Given the description of an element on the screen output the (x, y) to click on. 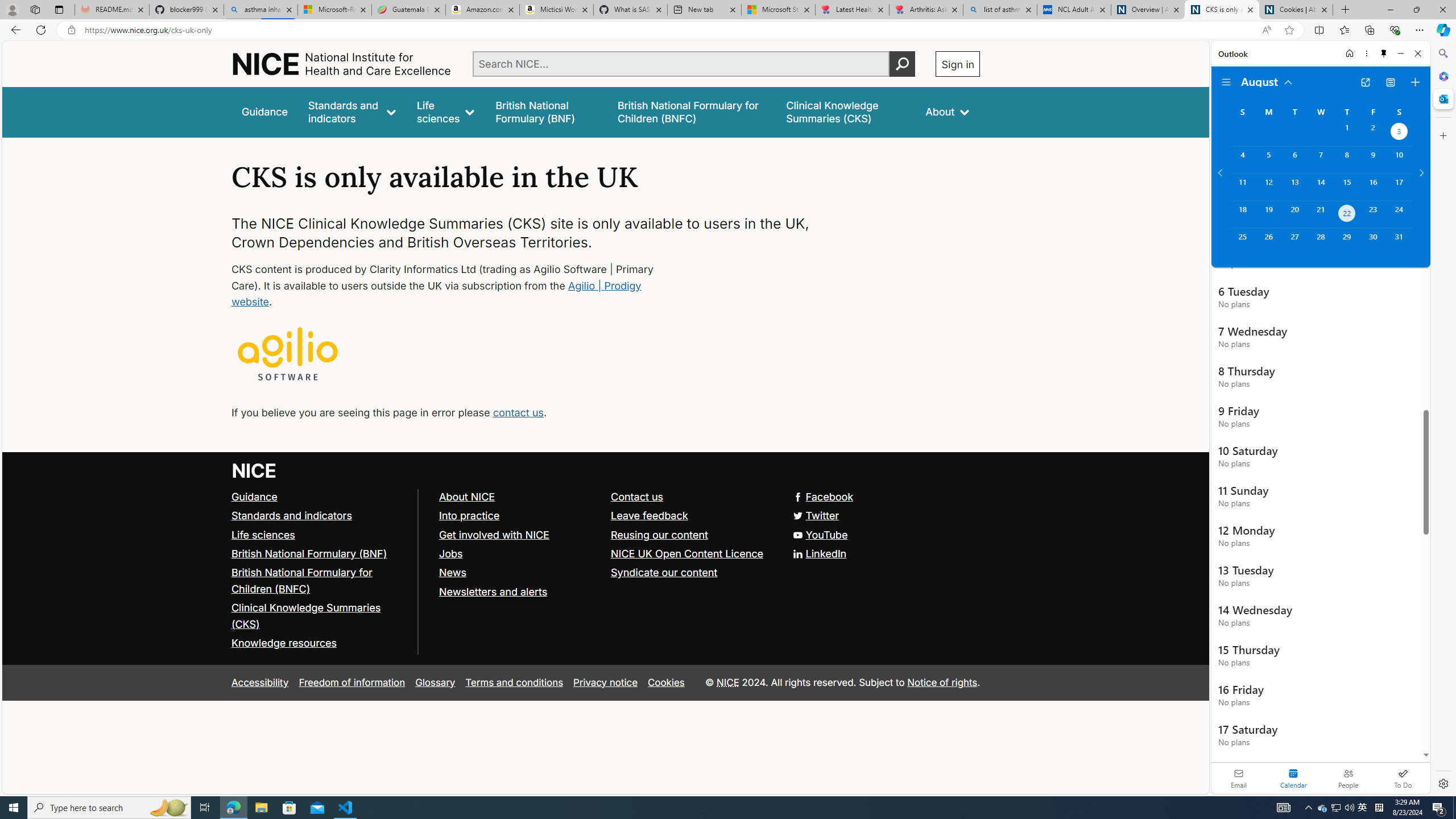
Tuesday, August 6, 2024.  (1294, 159)
contact us (517, 412)
Saturday, August 10, 2024.  (1399, 159)
Privacy notice (605, 682)
Guidance (254, 496)
Thursday, August 29, 2024.  (1346, 241)
To Do (1402, 777)
list of asthma inhalers uk - Search (1000, 9)
Terms and conditions (514, 682)
Microsoft-Report a Concern to Bing (334, 9)
